Given the description of an element on the screen output the (x, y) to click on. 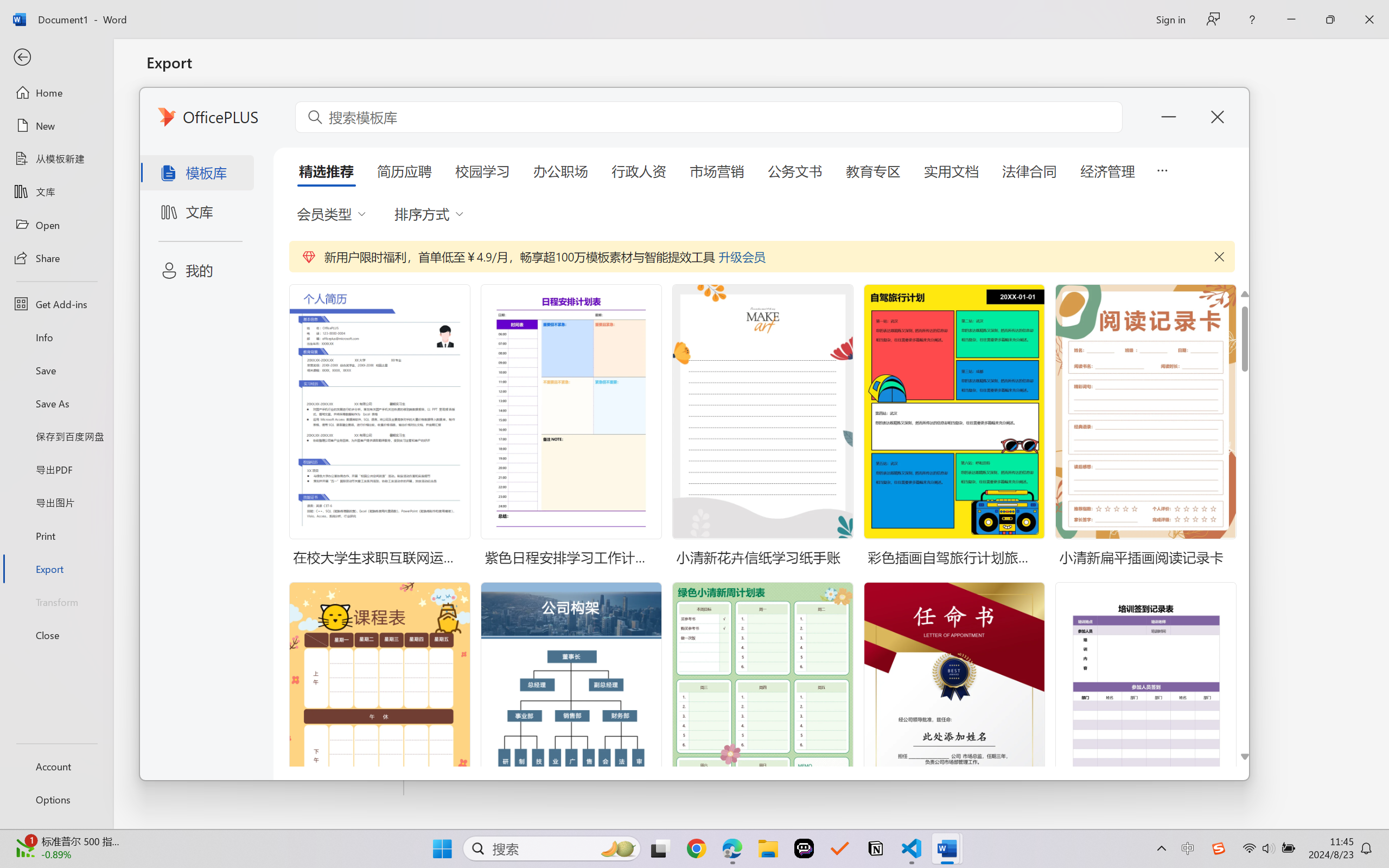
Search tabs (10, 12)
Chrome (1378, 37)
Overview (216, 71)
Accountability (399, 71)
Google Account (792, 12)
Researcher Engagement (563, 71)
Reload (50, 37)
Address and search bar (701, 37)
Minimize (1325, 12)
Transparency Center (91, 71)
Sign In - USA TODAY (130, 12)
